Given the description of an element on the screen output the (x, y) to click on. 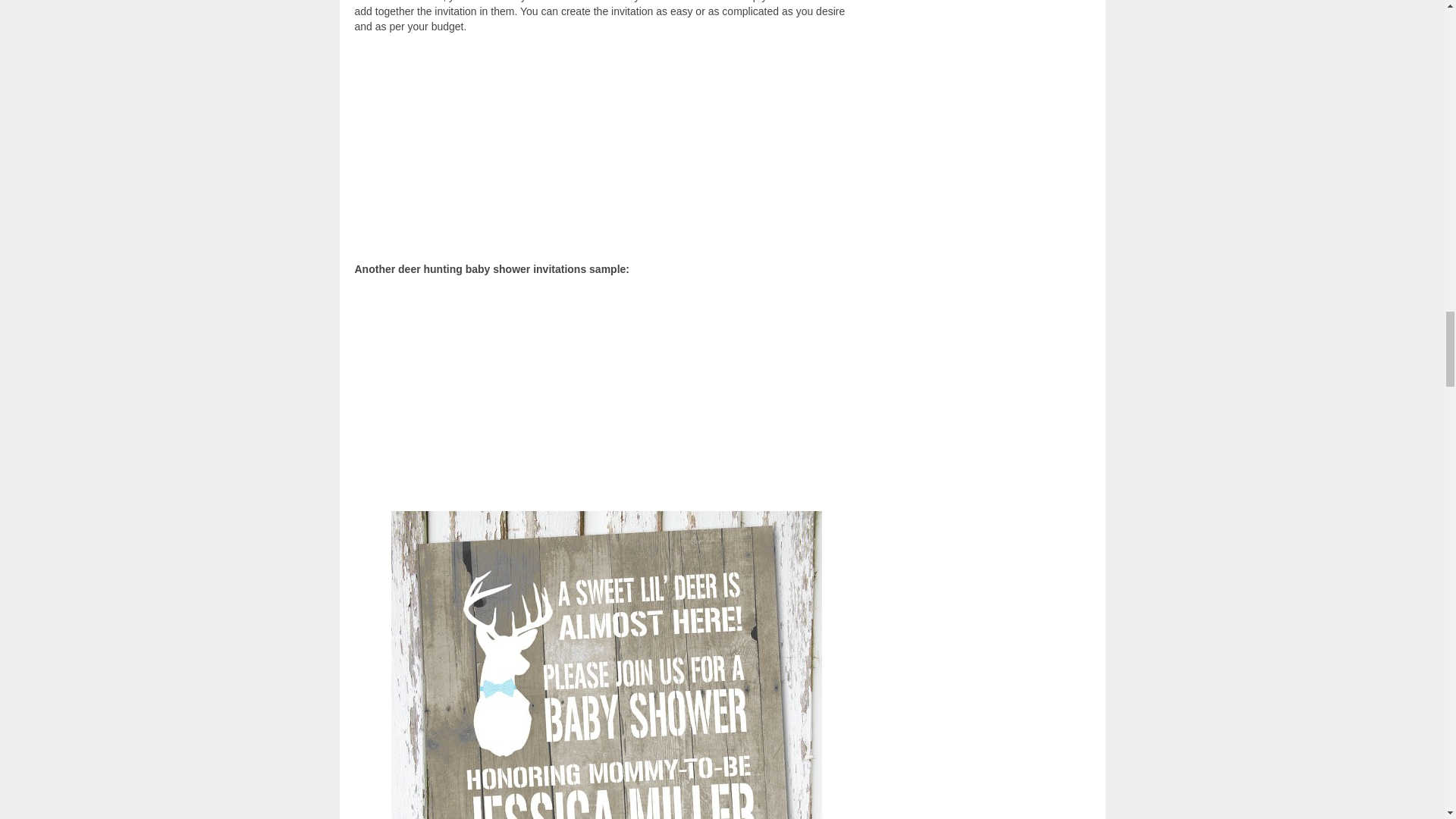
Hunting Theme Sweet Lil Deer Baby Shower Invitation (606, 664)
